Given the description of an element on the screen output the (x, y) to click on. 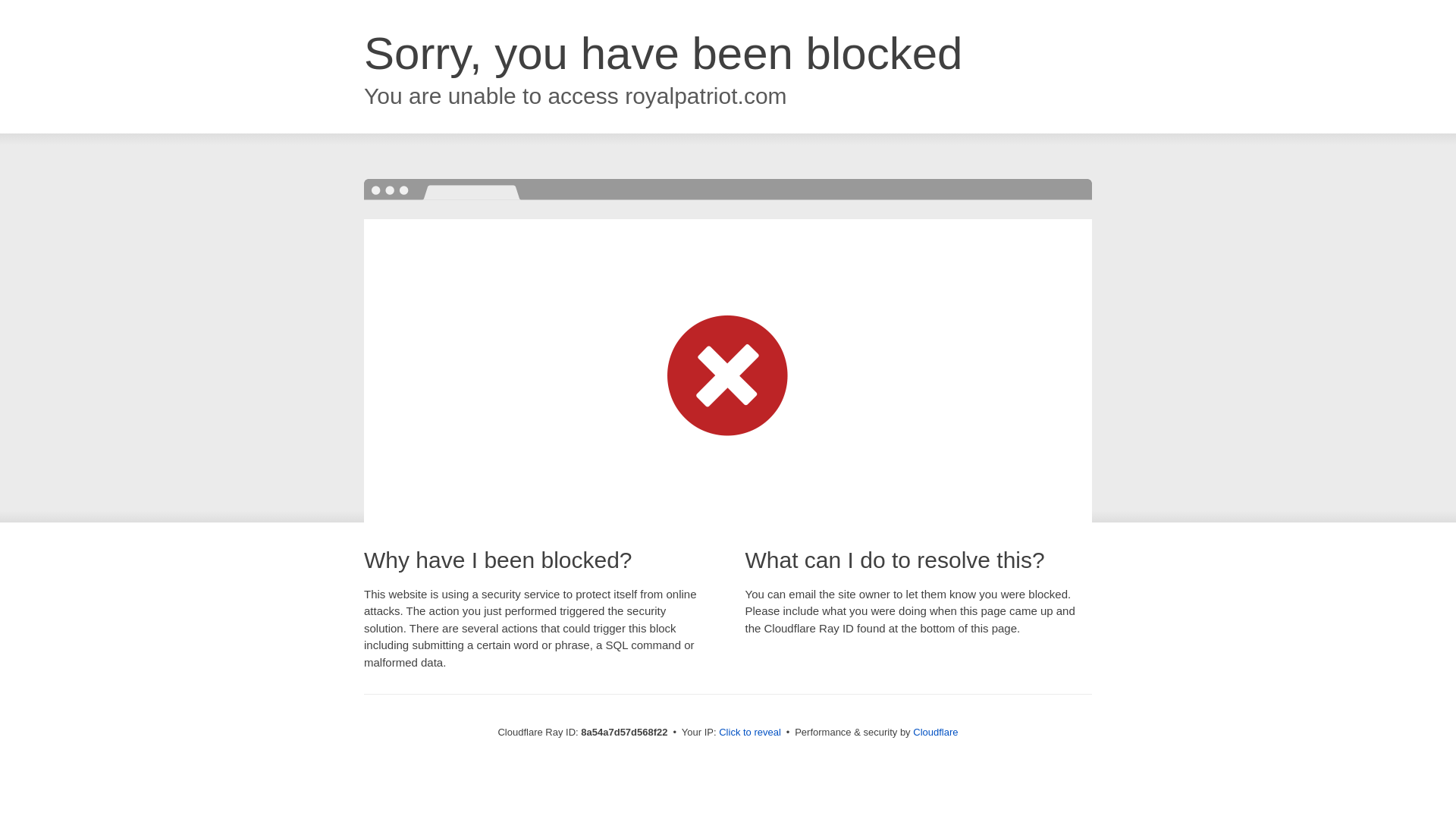
Click to reveal (749, 732)
Cloudflare (935, 731)
